Given the description of an element on the screen output the (x, y) to click on. 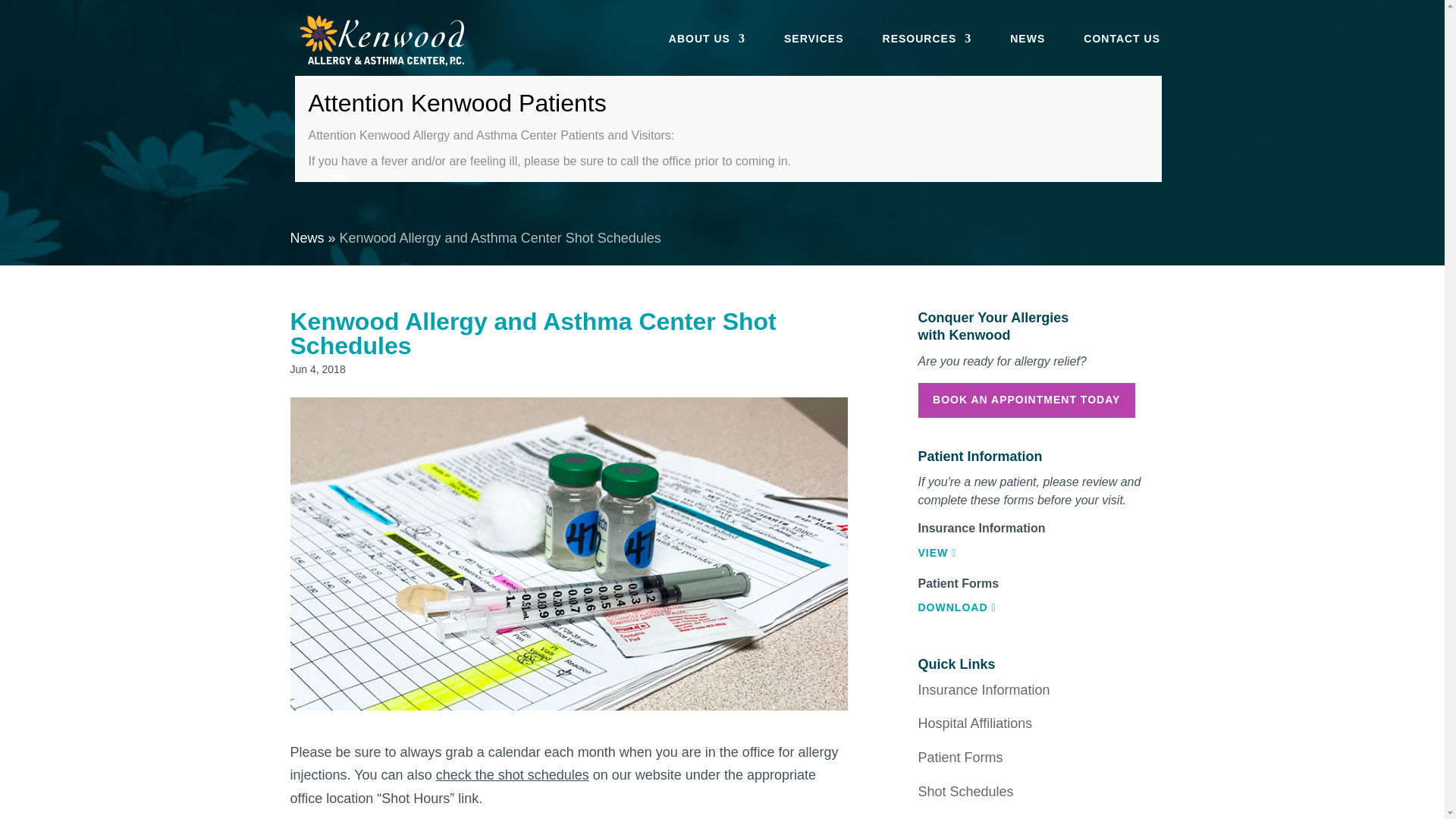
Hospital Affiliations (974, 723)
BOOK AN APPOINTMENT TODAY (1025, 400)
DOWNLOAD (956, 607)
RESOURCES (927, 54)
ABOUT US (706, 54)
VIEW (936, 552)
Testimonials (954, 818)
CONTACT US (1121, 54)
Insurance Information (983, 689)
Patient Forms (960, 757)
